Given the description of an element on the screen output the (x, y) to click on. 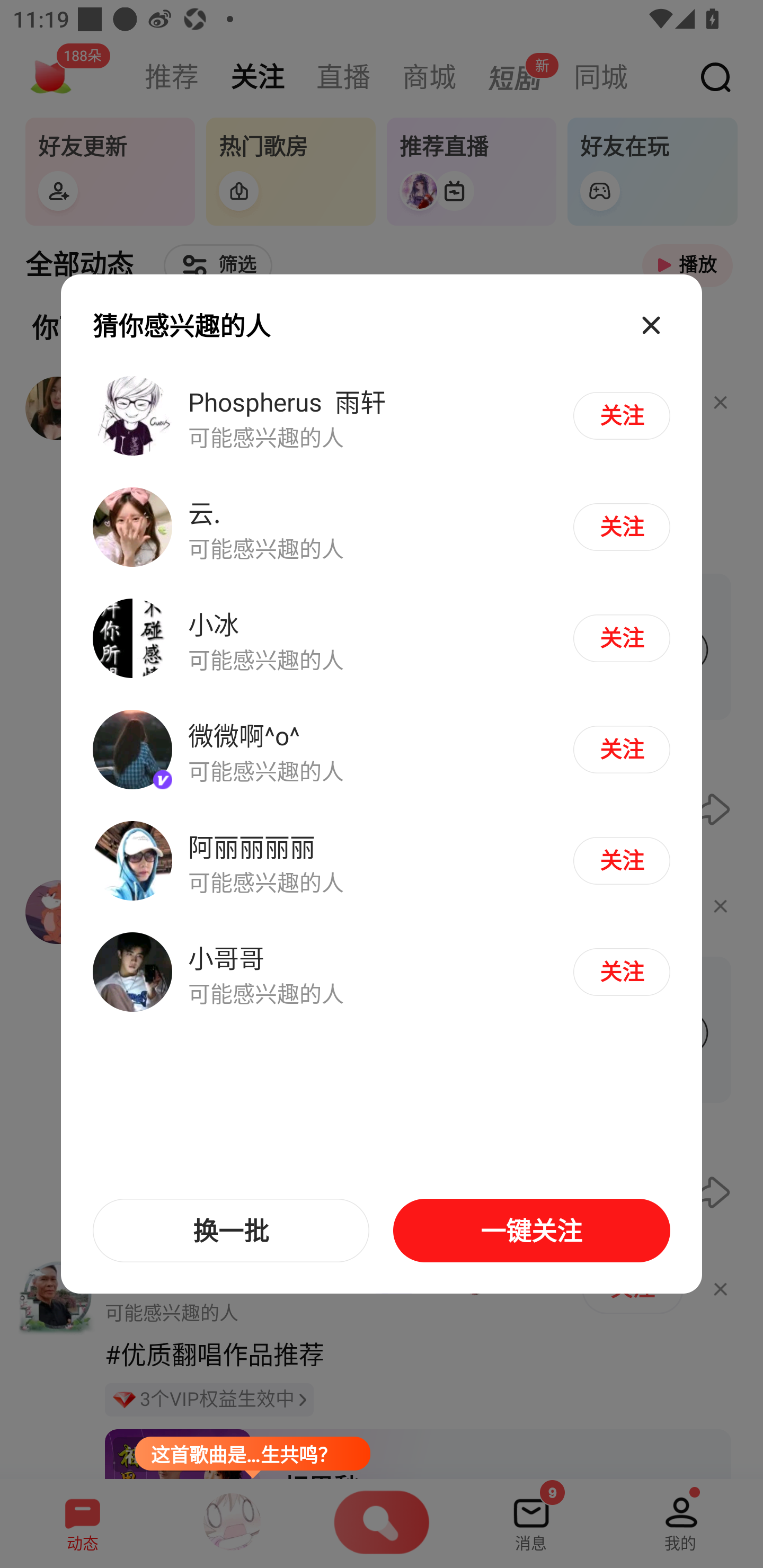
Phospherus  雨轩 可能感兴趣的人 关注 按钮 (381, 415)
关注 按钮 (621, 415)
云. 可能感兴趣的人 关注 按钮 (381, 527)
关注 按钮 (621, 526)
小冰 可能感兴趣的人 关注 按钮 (381, 638)
关注 按钮 (621, 637)
微微啊^o^ 可能感兴趣的人 关注 按钮 (381, 749)
关注 按钮 (621, 749)
阿丽丽丽丽 可能感兴趣的人 关注 按钮 (381, 860)
关注 按钮 (621, 860)
小哥哥 可能感兴趣的人 关注 按钮 (381, 971)
关注 按钮 (621, 971)
换一批 按钮 (231, 1230)
一键关注 按钮 (530, 1230)
